Given the description of an element on the screen output the (x, y) to click on. 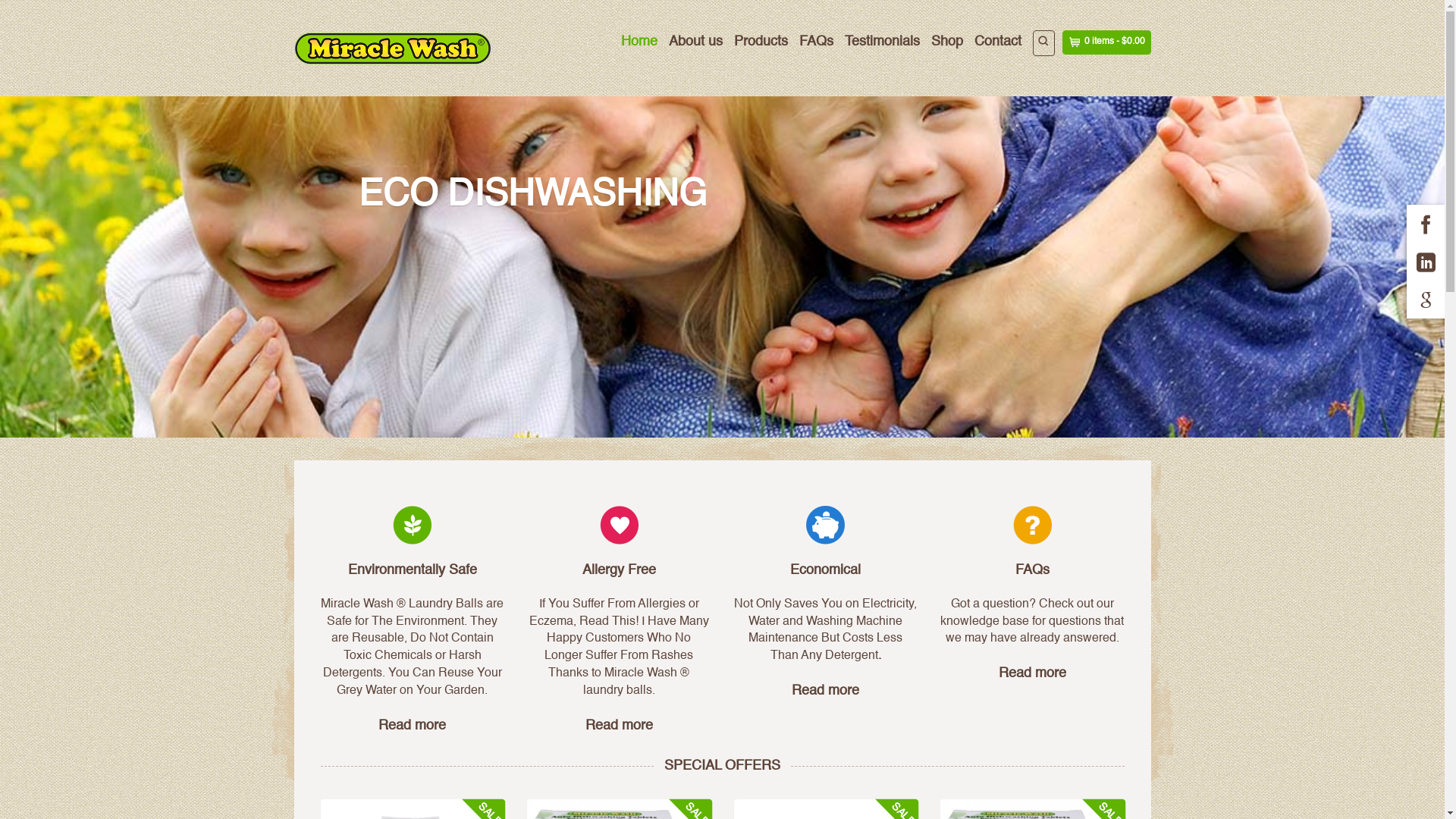
Testimonials Element type: text (881, 41)
Contact Element type: text (996, 41)
Environmentally Safe Element type: text (412, 570)
FAQs Element type: text (816, 41)
Read more Element type: text (1032, 673)
READ MORE Element type: text (438, 335)
DOWNLOAD FREE TOXIC INGREDIENTS REPORT Element type: text (876, 335)
Shop Element type: text (947, 41)
0 items - $0.00 Element type: text (1105, 42)
About us Element type: text (695, 41)
Read more Element type: text (825, 690)
Economical Element type: text (825, 570)
Home Element type: text (638, 41)
Allergy Free Element type: text (618, 570)
Read more Element type: text (618, 725)
FAQs Element type: text (1032, 570)
Products Element type: text (760, 41)
Read more Element type: text (411, 725)
